Given the description of an element on the screen output the (x, y) to click on. 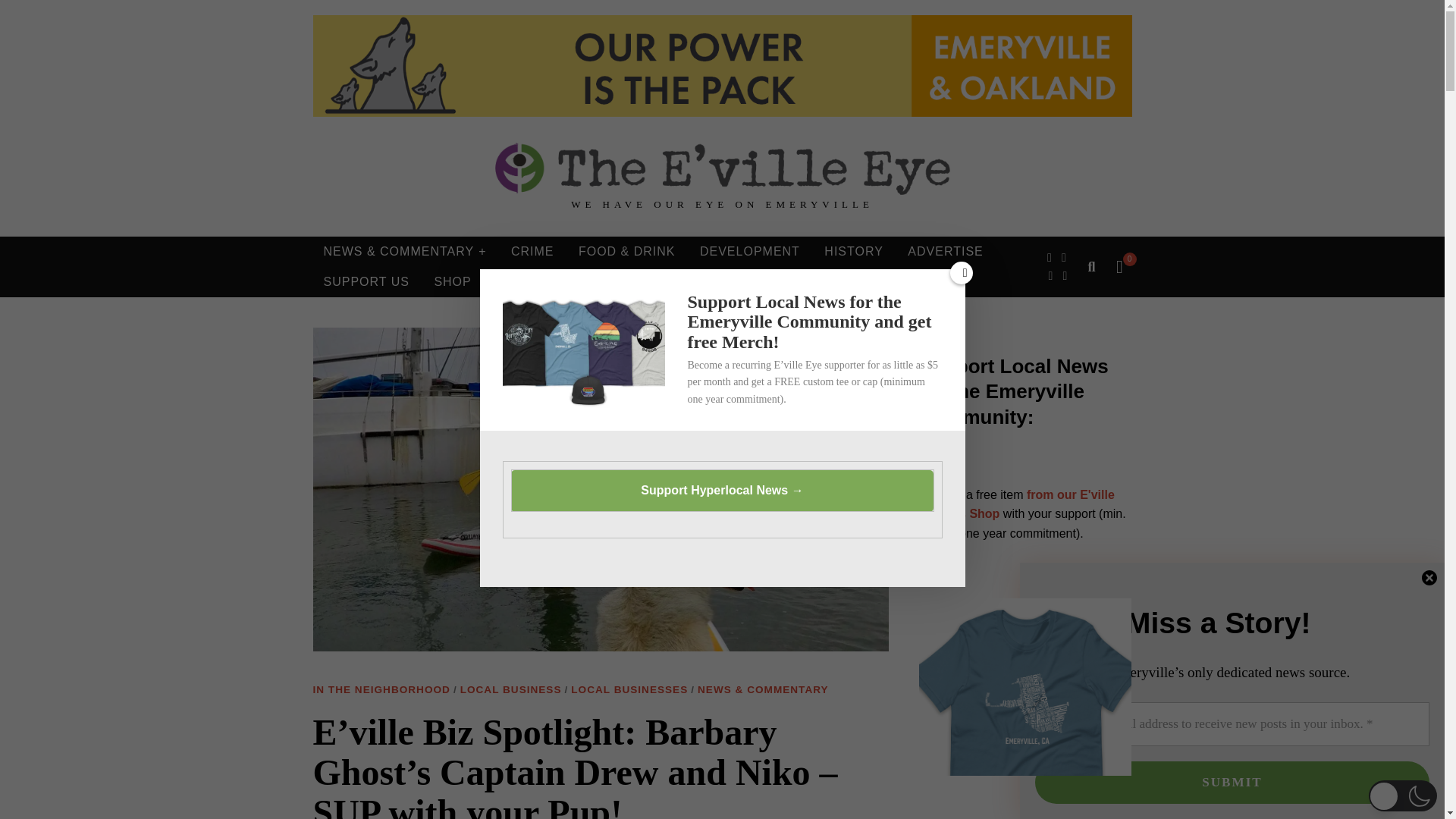
HISTORY (853, 251)
LOCAL BUSINESSES (628, 689)
SUPPORT US (366, 281)
LOCAL BUSINESS (511, 689)
DEVELOPMENT (749, 251)
CRIME (532, 251)
Submit (1232, 782)
ADVERTISE (944, 251)
SHOP (452, 281)
NOCCS Leaderboard (722, 66)
0 (1118, 266)
IN THE NEIGHBORHOOD (381, 689)
